Given the description of an element on the screen output the (x, y) to click on. 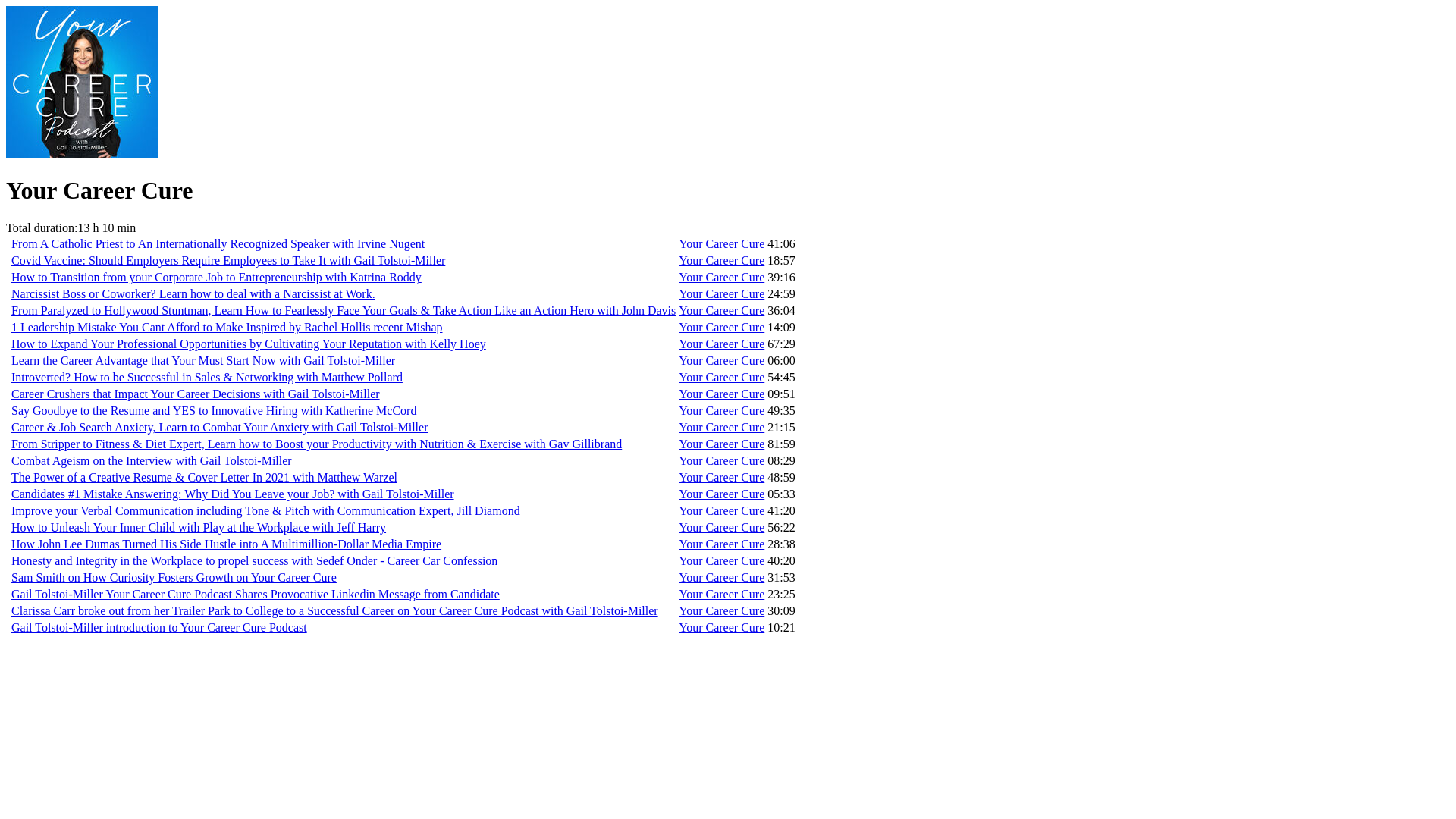
Your Career Cure (721, 443)
Your Career Cure (721, 560)
Your Career Cure (721, 309)
Your Career Cure (721, 410)
Combat Ageism on the Interview with Gail Tolstoi-Miller (151, 460)
Your Career Cure (721, 427)
Your Career Cure (721, 543)
